Given the description of an element on the screen output the (x, y) to click on. 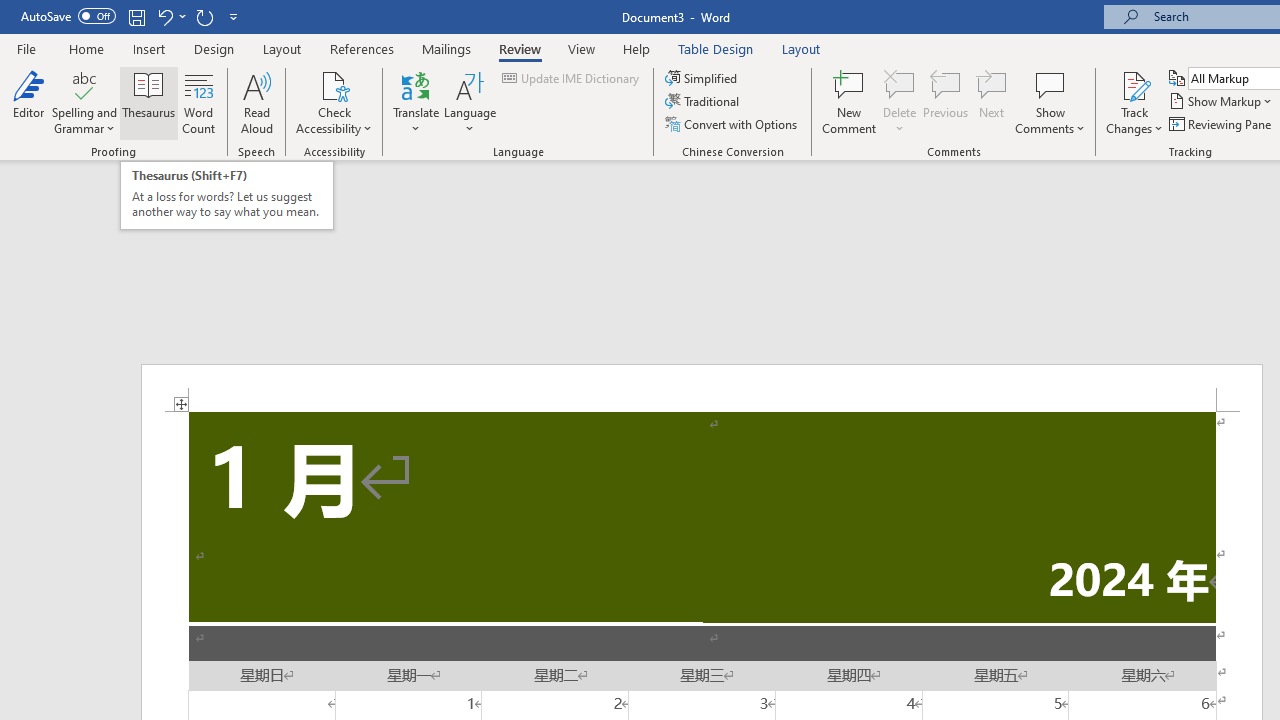
Undo Apply Quick Style (170, 15)
Check Accessibility (334, 84)
Language (470, 102)
Track Changes (1134, 84)
Translate (415, 102)
Previous (946, 102)
